Given the description of an element on the screen output the (x, y) to click on. 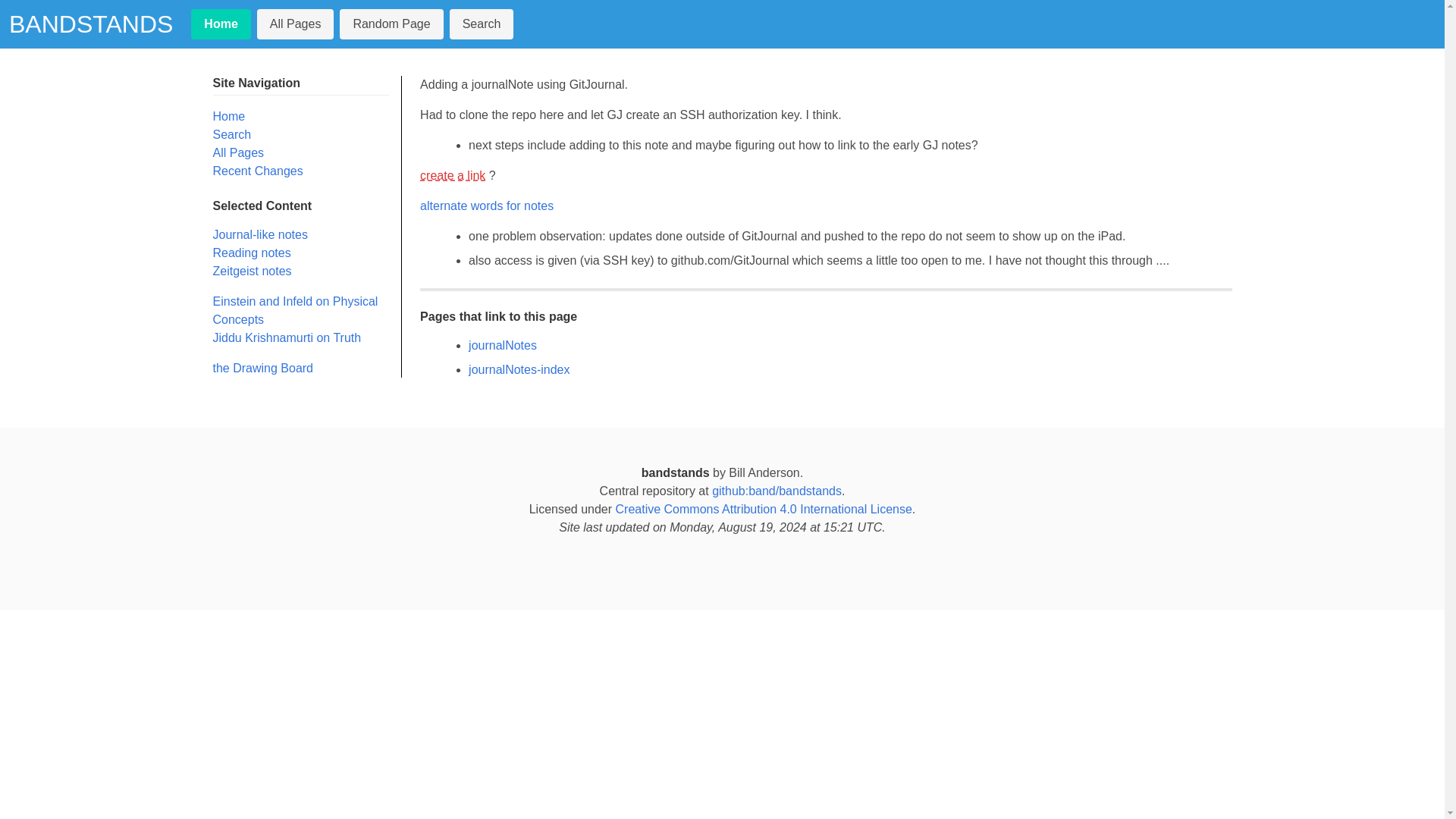
Einstein and Infeld on Physical Concepts (294, 309)
BANDSTANDS (91, 24)
Zeitgeist notes (251, 270)
Random Page (390, 24)
Search (481, 24)
Creative Commons Attribution 4.0 International License (763, 508)
journalNotes (502, 345)
Reading notes (250, 252)
All Pages (295, 24)
Home (220, 24)
